Given the description of an element on the screen output the (x, y) to click on. 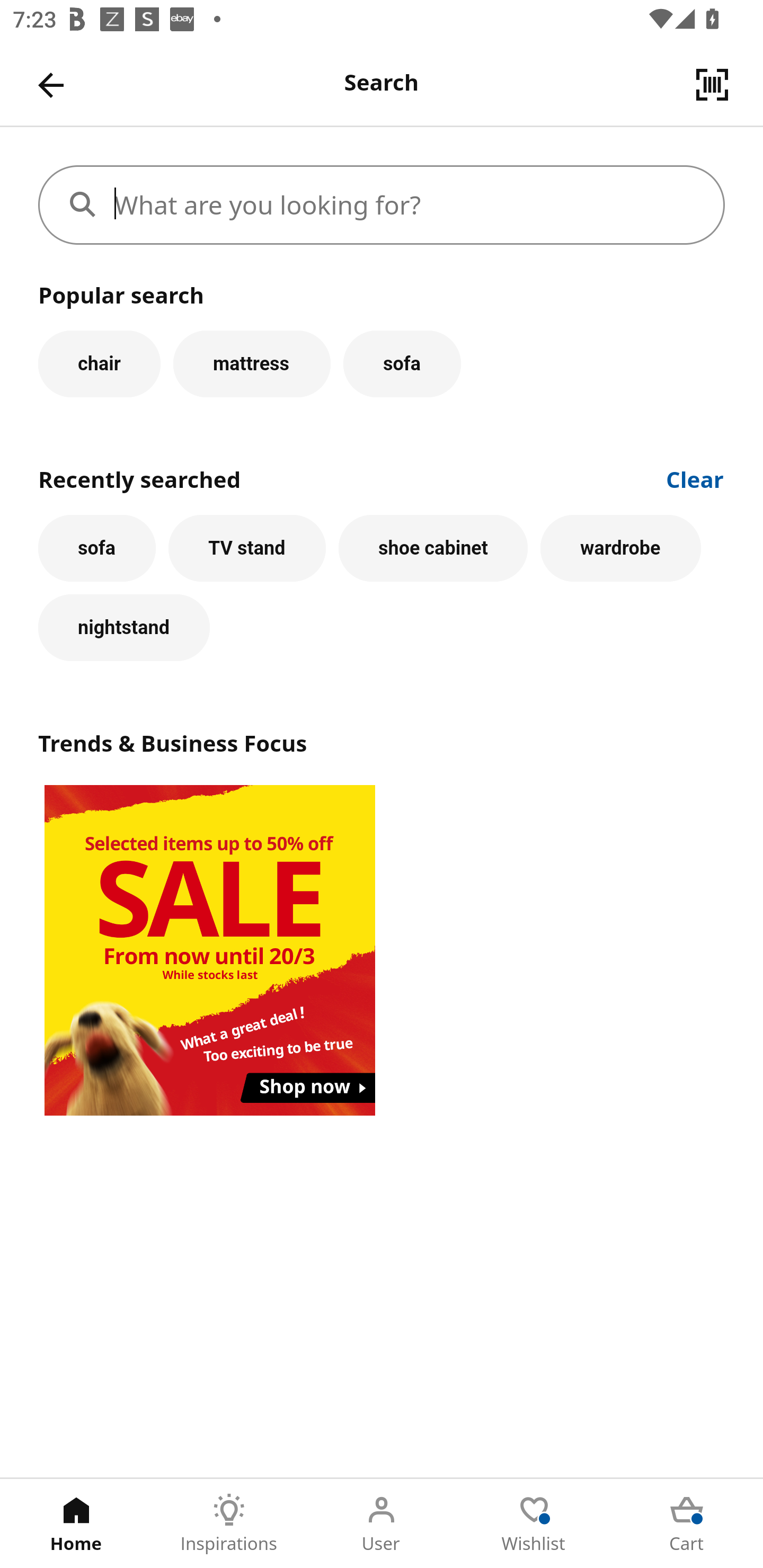
chair (99, 363)
mattress (251, 363)
sofa (401, 363)
Clear (695, 477)
sofa (96, 547)
TV stand (246, 547)
shoe cabinet (432, 547)
wardrobe (620, 547)
nightstand (123, 627)
Home
Tab 1 of 5 (76, 1522)
Inspirations
Tab 2 of 5 (228, 1522)
User
Tab 3 of 5 (381, 1522)
Wishlist
Tab 4 of 5 (533, 1522)
Cart
Tab 5 of 5 (686, 1522)
